Given the description of an element on the screen output the (x, y) to click on. 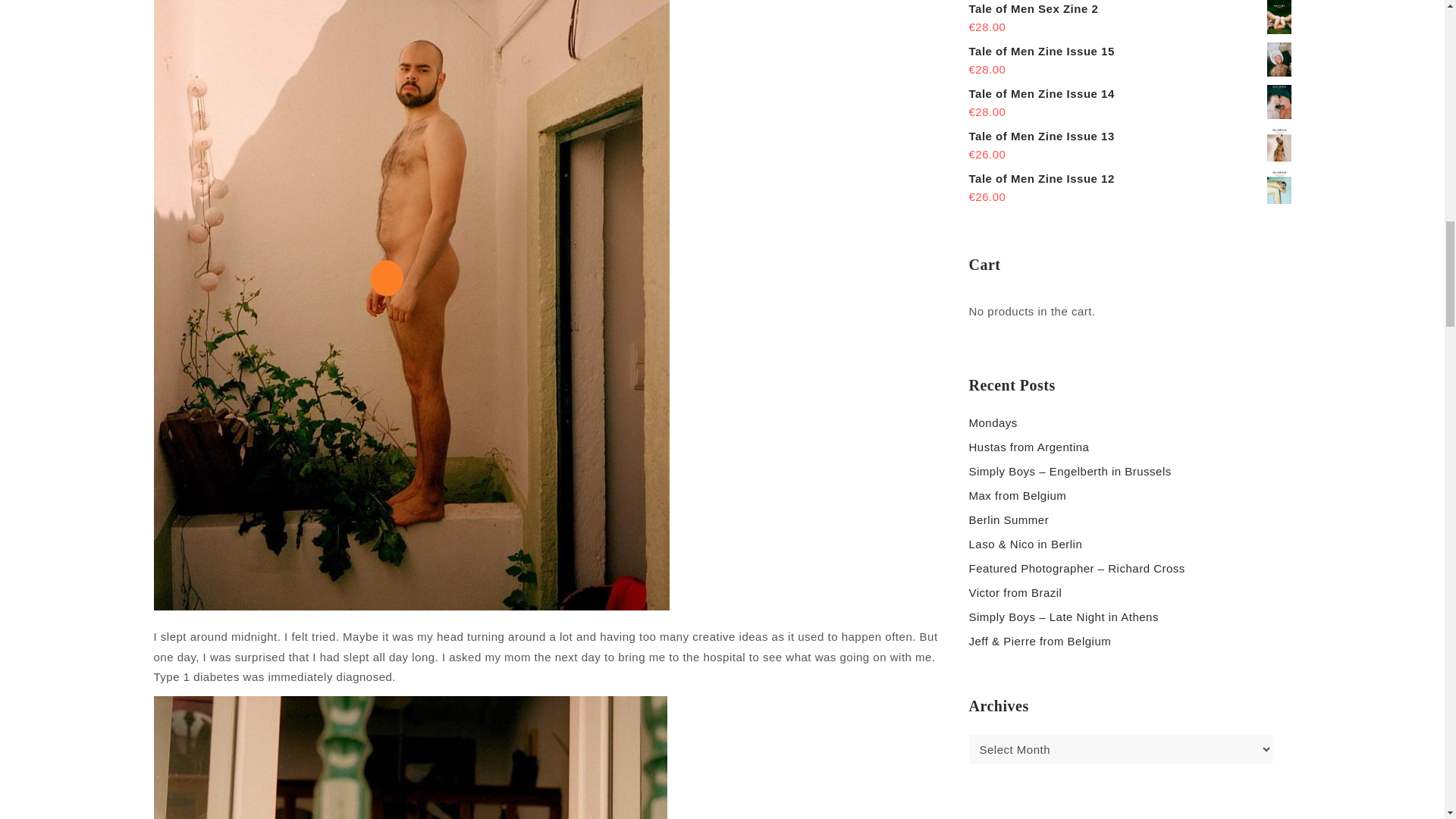
Tale of Men Sex Zine 2 (1130, 9)
Tale of Men Zine Issue 15 (1130, 51)
Mondays (993, 422)
Berlin Summer (1009, 519)
Tale of Men Zine Issue 13 (1130, 136)
Max from Belgium (1018, 495)
Tale of Men Zine Issue 14 (1130, 94)
Victor from Brazil (1015, 592)
Hustas from Argentina (1029, 446)
Tale of Men Zine Issue 12 (1130, 178)
